Given the description of an element on the screen output the (x, y) to click on. 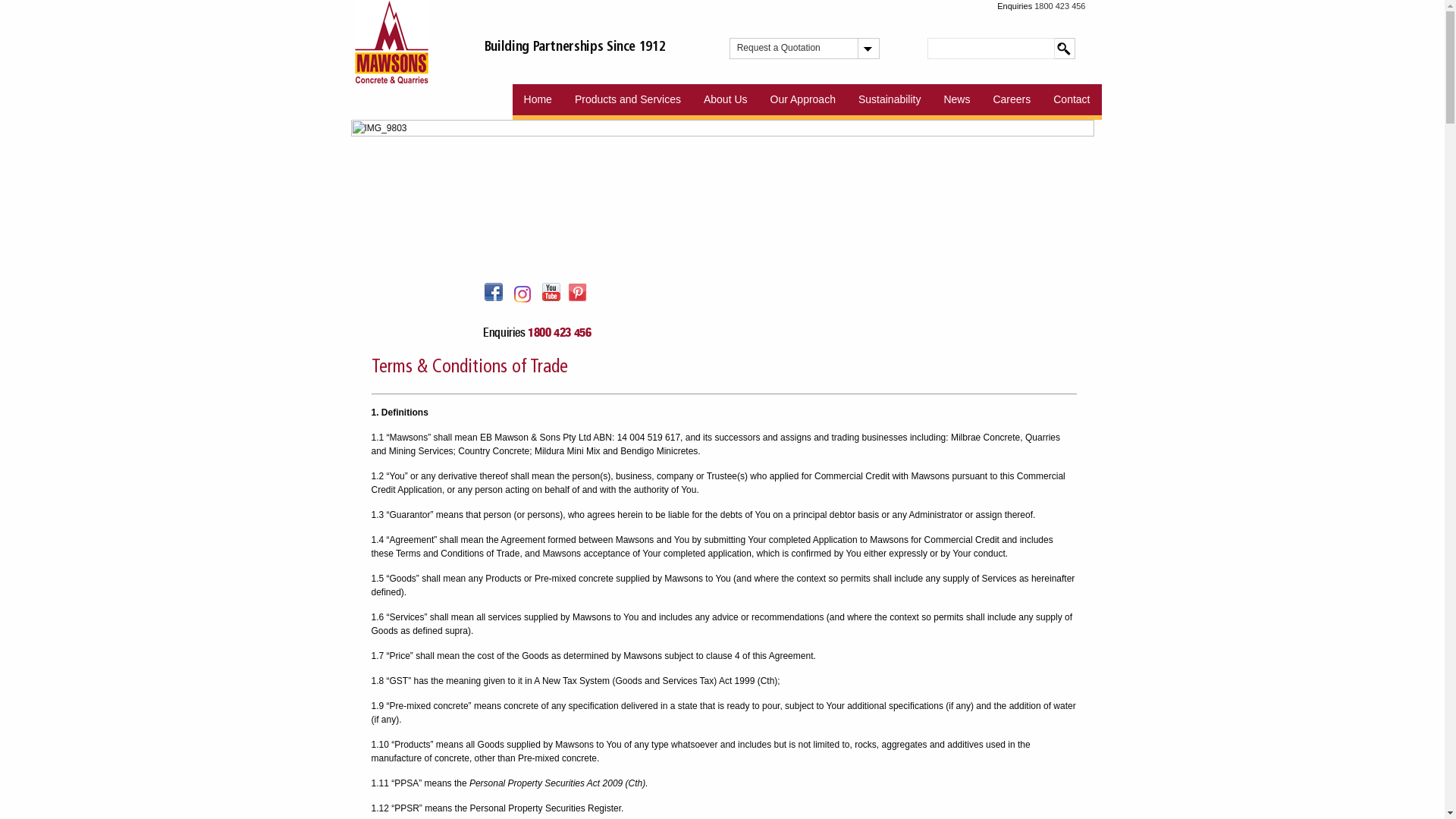
Contact Element type: text (1071, 101)
1800 423 456 Element type: text (1059, 5)
1800 423 456 Element type: text (558, 332)
Products and Services Element type: text (627, 101)
Mawsons YouTube Channel Element type: hover (551, 291)
Home Element type: text (537, 101)
Mawsons Facebook Page Element type: hover (493, 291)
Sustainability Element type: text (889, 101)
Careers Element type: text (1011, 101)
Mawsons Instagram Page Element type: hover (522, 294)
Request a Quotation Element type: text (796, 48)
About Us Element type: text (725, 101)
News Element type: text (956, 101)
IMG_9803 Element type: hover (721, 193)
Mawsons Pinterest Page Element type: hover (576, 291)
Our Approach Element type: text (803, 101)
